Given the description of an element on the screen output the (x, y) to click on. 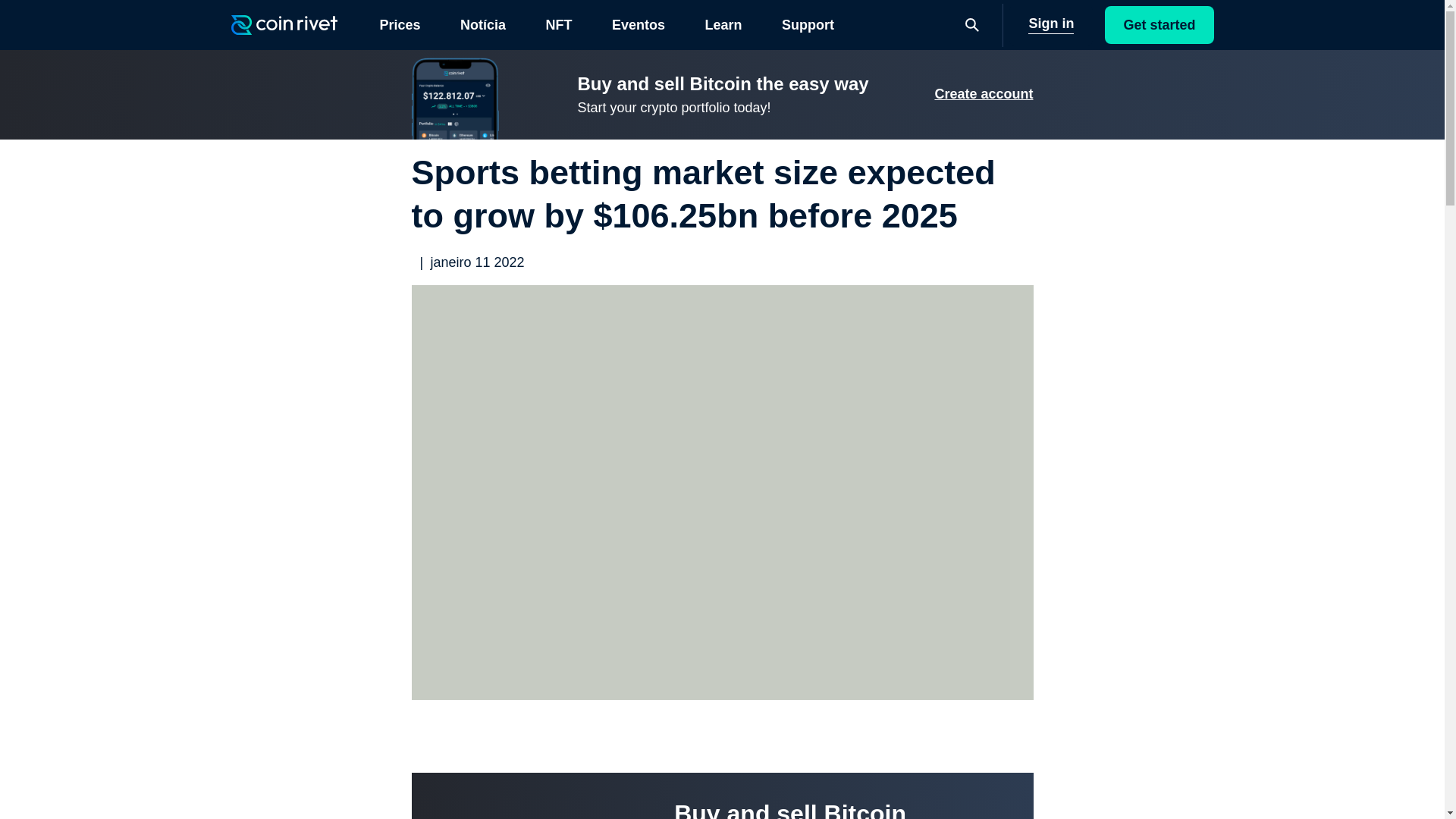
Support (806, 24)
Eventos (638, 24)
NFT (558, 24)
Learn (722, 24)
Sign in (1051, 24)
Create account (983, 94)
Prices (399, 24)
Get started (1158, 24)
